Given the description of an element on the screen output the (x, y) to click on. 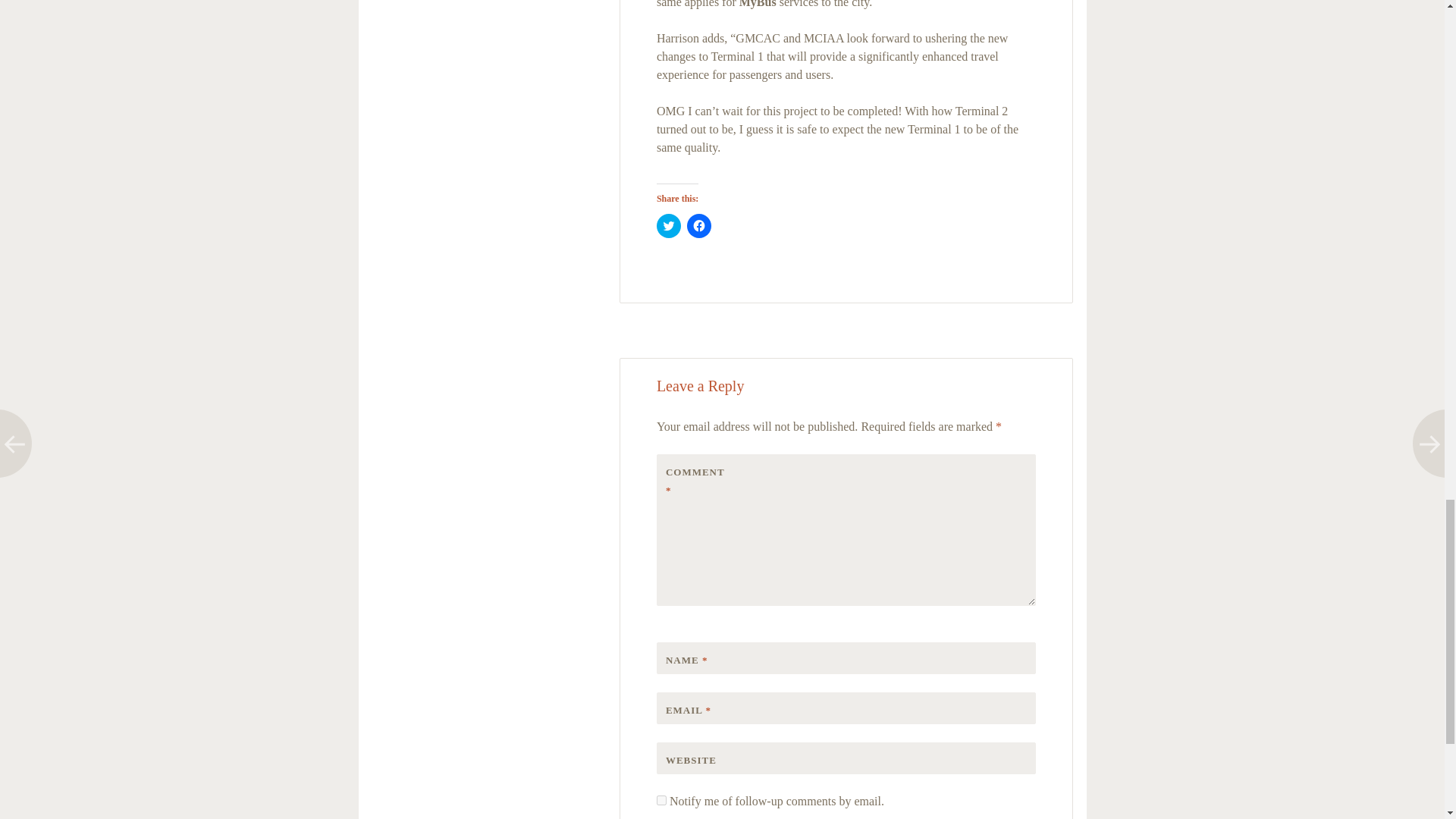
Click to share on Twitter (668, 225)
Click to share on Facebook (699, 225)
subscribe (661, 800)
